Given the description of an element on the screen output the (x, y) to click on. 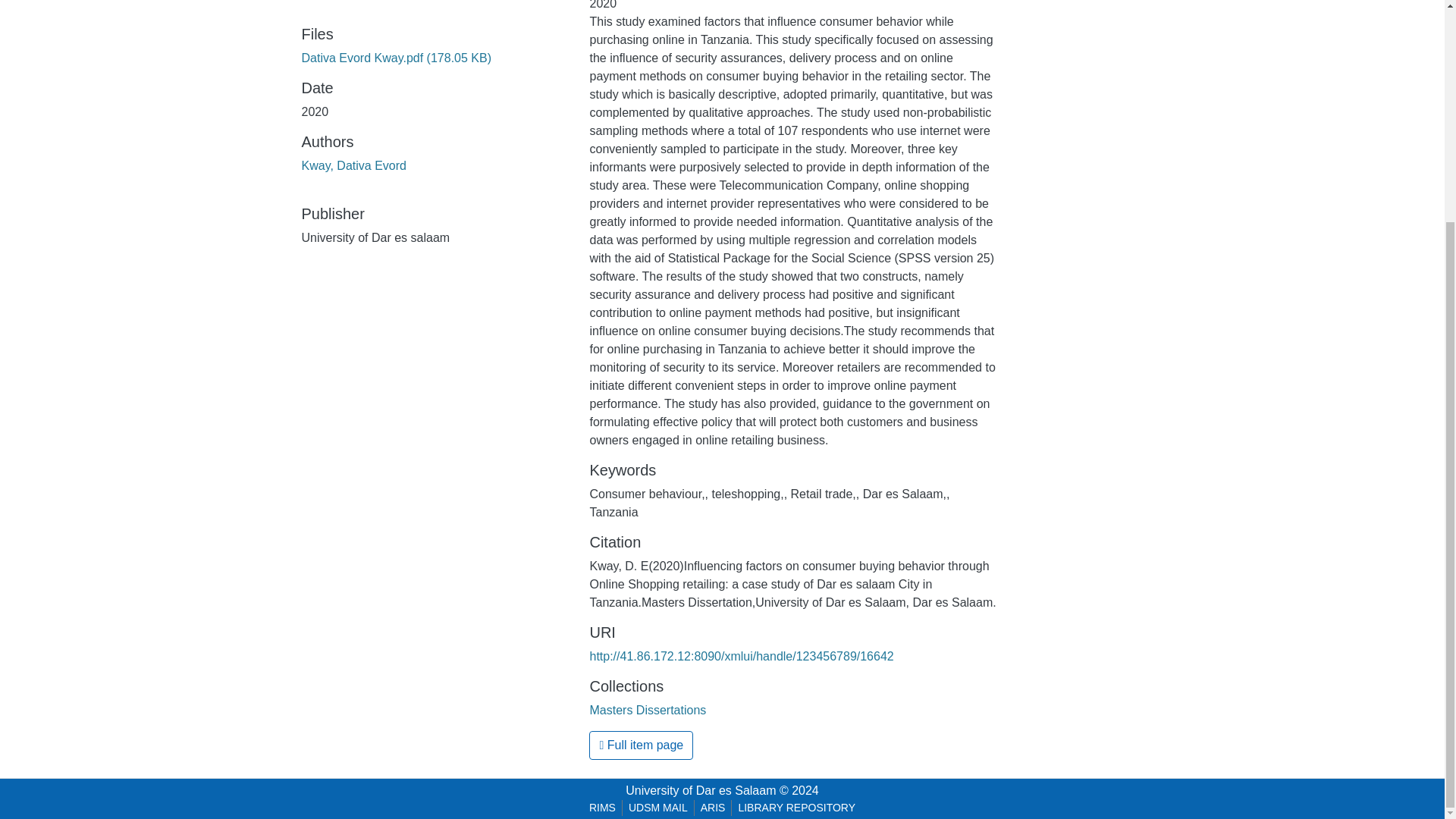
Masters Dissertations (647, 709)
LIBRARY REPOSITORY (796, 807)
Kway, Dativa Evord (353, 164)
UDSM MAIL (658, 807)
Full item page (641, 745)
ARIS (713, 807)
RIMS (602, 807)
